Given the description of an element on the screen output the (x, y) to click on. 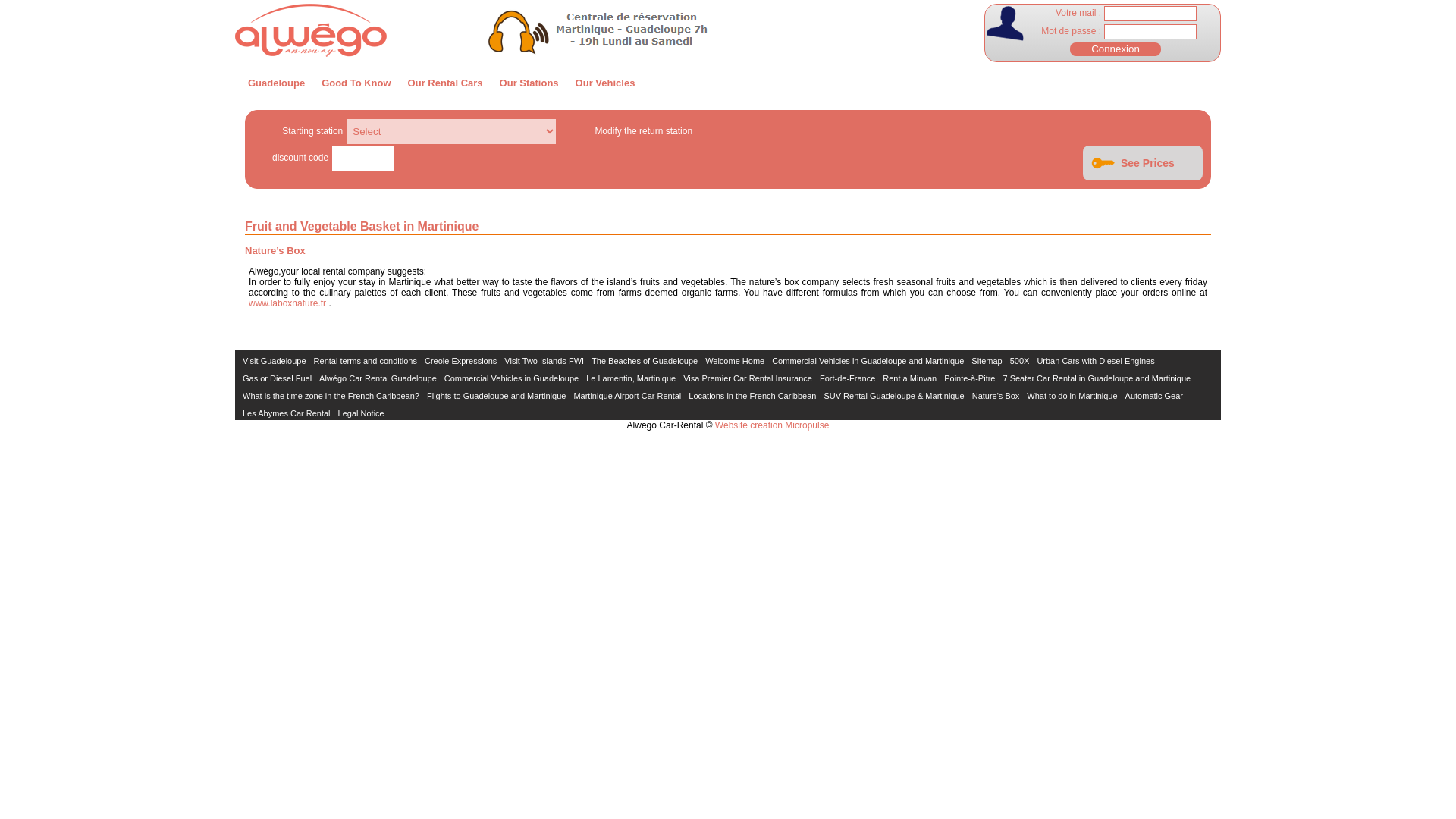
Locations in the French Caribbean (751, 395)
Guadeloupe (275, 82)
Rent a Minvan (909, 378)
www.laboxnature.fr (287, 303)
Fort-de-France (847, 378)
Our Vehicles (604, 82)
Connexion (1115, 49)
Martinique Airport Car Rental (627, 395)
What is the time zone in the French Caribbean? (331, 395)
7 Seater Car Rental in Guadeloupe and Martinique (1097, 378)
Urban Cars with Diesel Engines (1095, 360)
Rental terms and conditions (365, 360)
Good To Know (355, 82)
Commercial Vehicles in Guadeloupe and Martinique (867, 360)
Commercial Vehicles in Guadeloupe (511, 378)
